Given the description of an element on the screen output the (x, y) to click on. 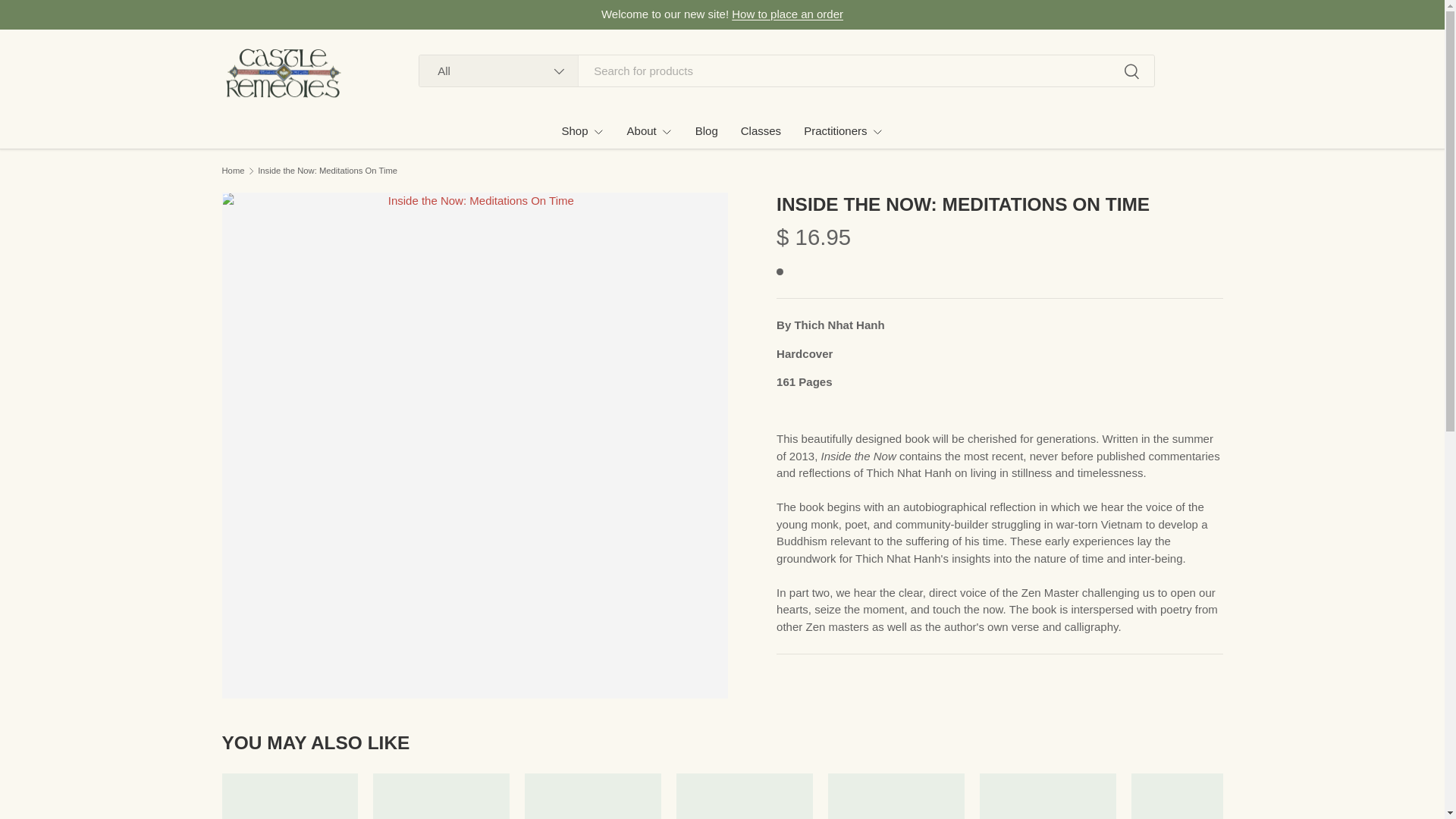
Skip to content (64, 21)
All (498, 70)
How to place an order (787, 13)
Search (1130, 72)
Shop (582, 131)
